Given the description of an element on the screen output the (x, y) to click on. 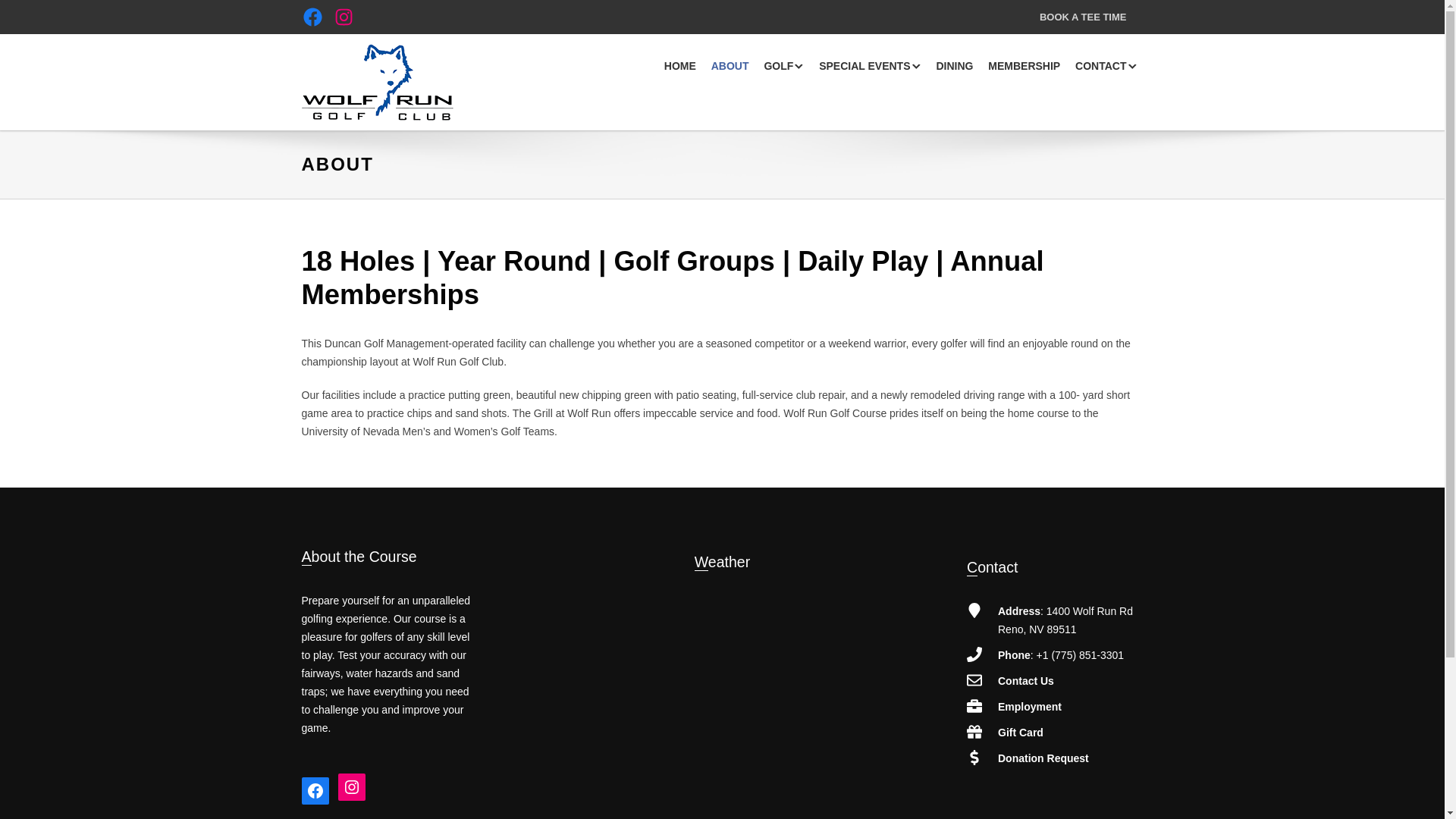
FACEBOOK (312, 16)
Contact Us (1025, 680)
Employment (1029, 706)
GOLF (783, 66)
SPECIAL EVENTS (869, 66)
DINING (954, 66)
CONTACT (1105, 66)
Gift Card (1020, 732)
BOOK A TEE TIME (1082, 16)
HOME (679, 66)
ABOUT (729, 66)
Instagram (351, 786)
INSTAGRAM (342, 16)
facebook (315, 790)
